Given the description of an element on the screen output the (x, y) to click on. 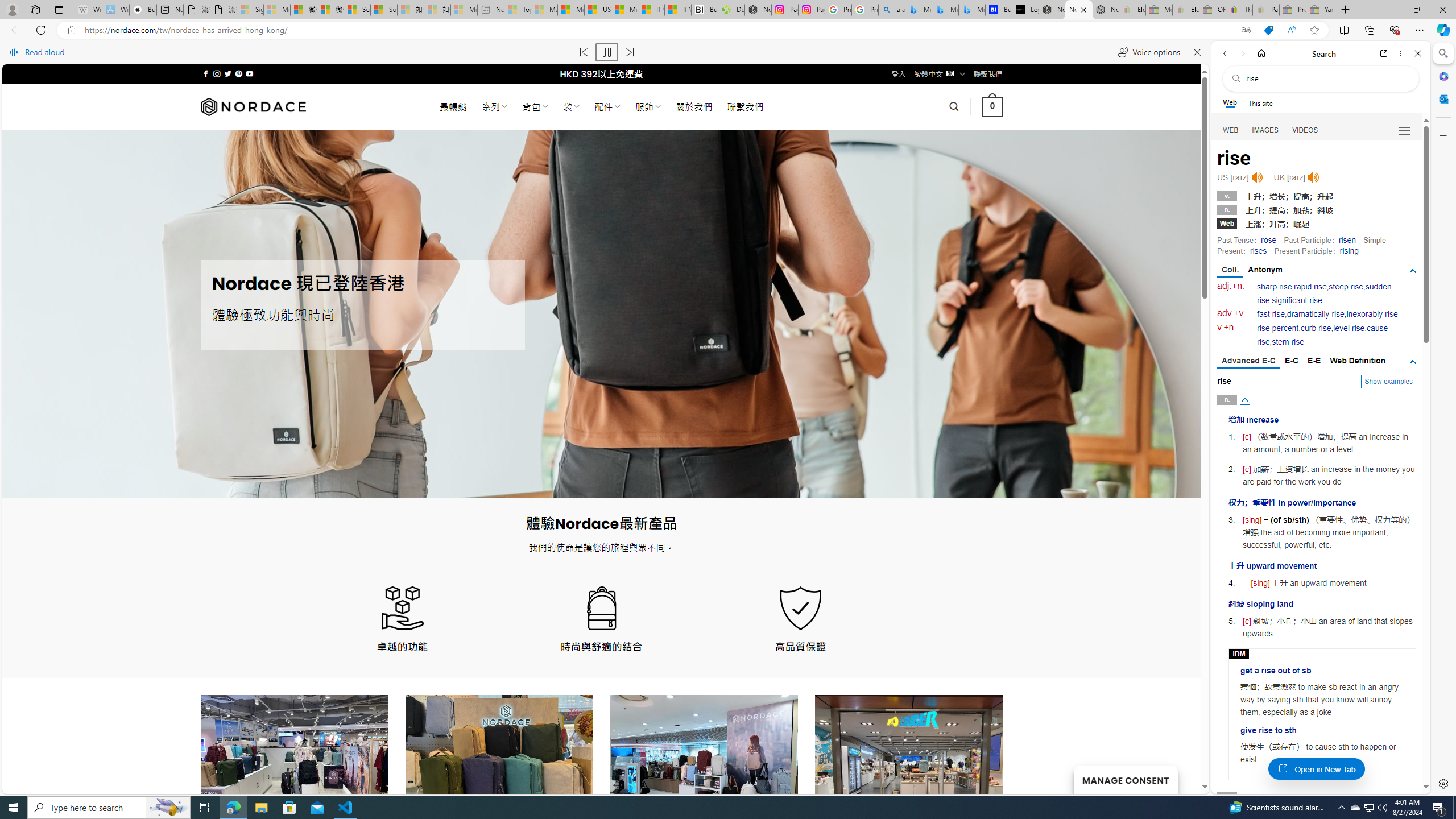
Read previous paragraph (583, 52)
Payments Terms of Use | eBay.com - Sleeping (1265, 9)
significant rise (1296, 300)
stem rise (1287, 341)
MANAGE CONSENT (1125, 779)
